Given the description of an element on the screen output the (x, y) to click on. 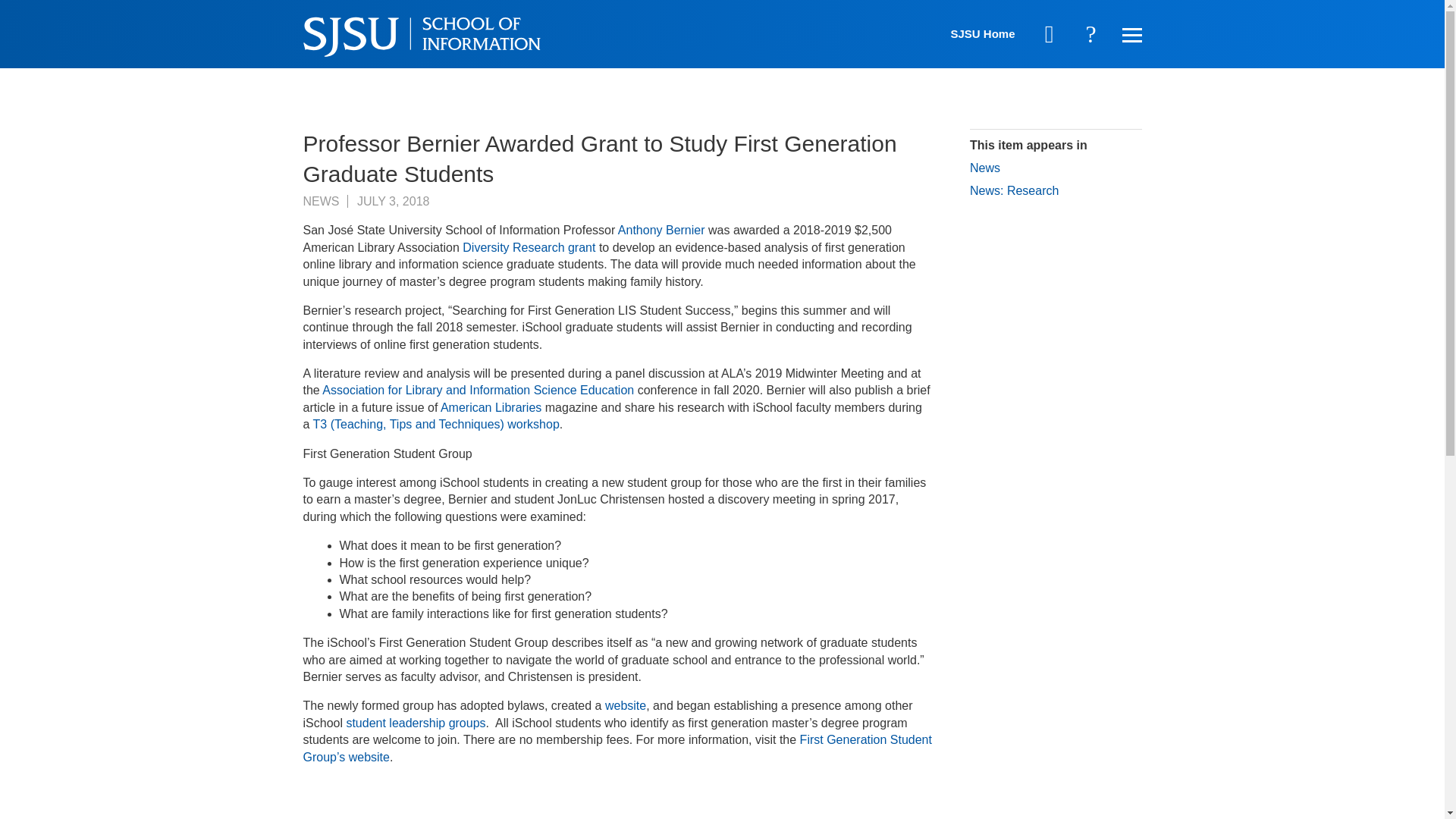
SJSU Home (982, 33)
